Given the description of an element on the screen output the (x, y) to click on. 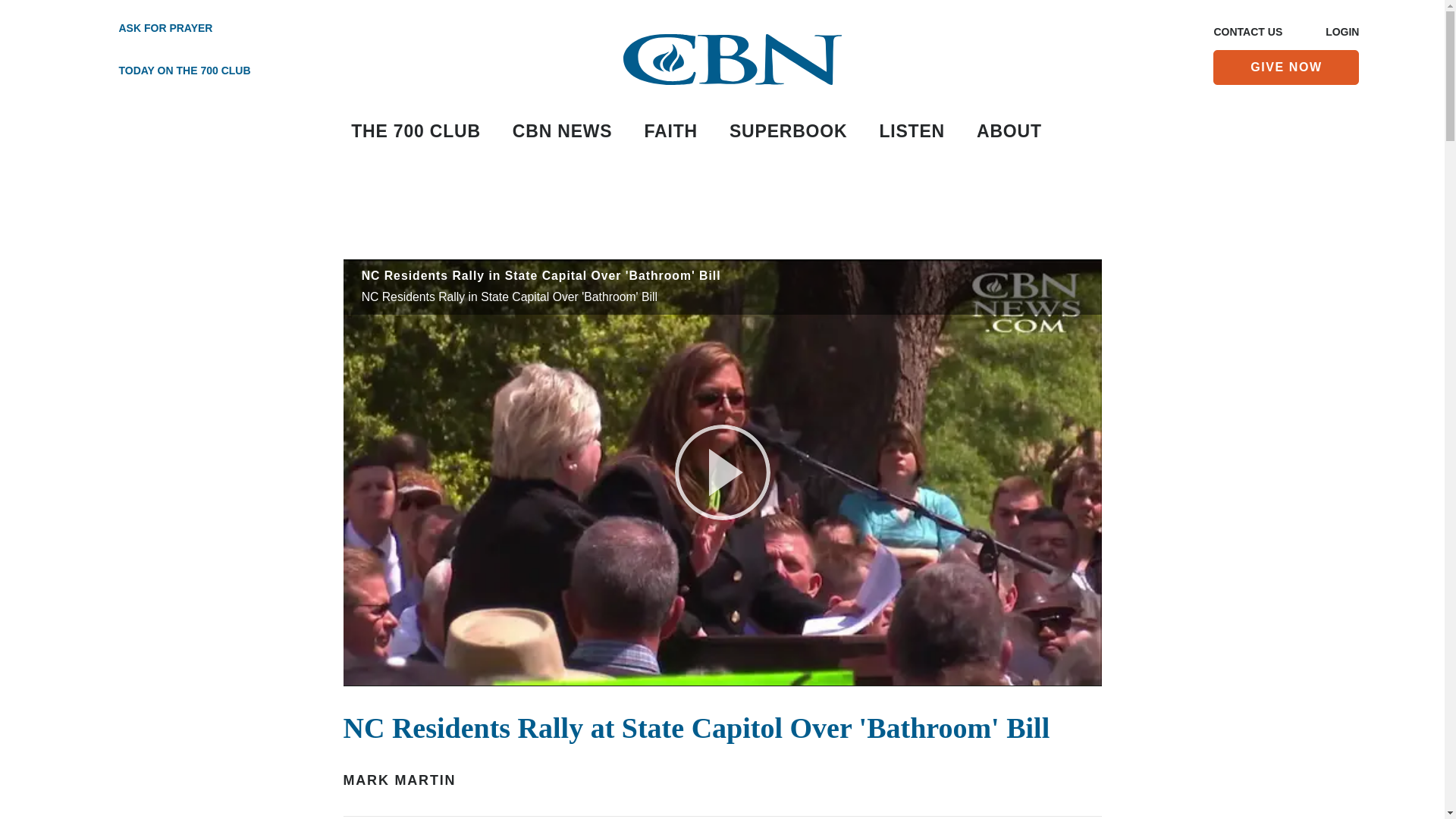
CONTACT US (1247, 32)
Play Video (722, 472)
LOGIN (1341, 32)
THE 700 CLUB (415, 131)
3rd party ad content (722, 213)
GIVE NOW (1285, 67)
TODAY ON THE 700 CLUB (167, 71)
CBN NEWS (562, 131)
ASK FOR PRAYER (167, 28)
